Given the description of an element on the screen output the (x, y) to click on. 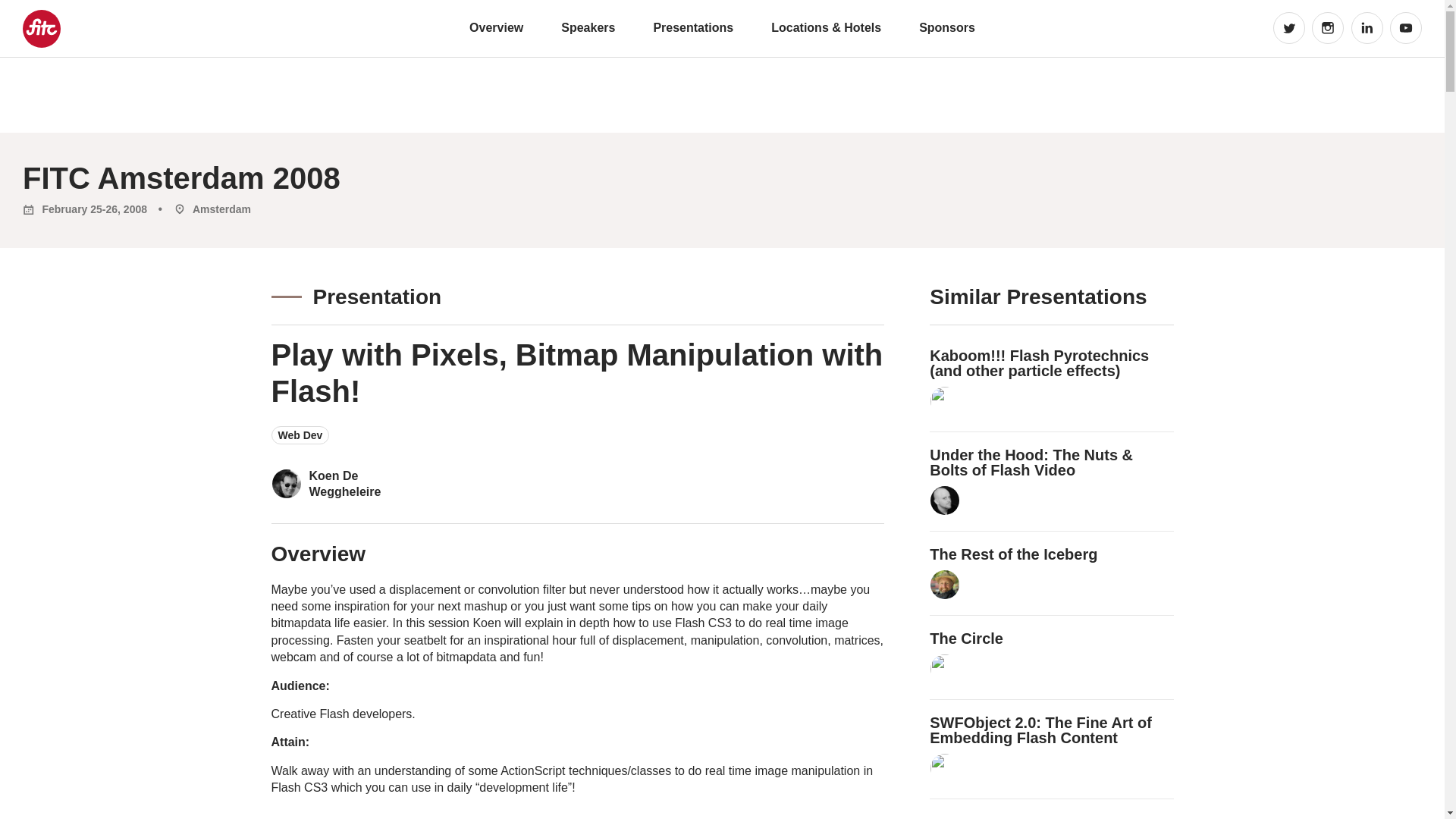
The Circle (966, 638)
February 25-26, 2008 (85, 208)
youtube (1406, 28)
Jared Tarbell (944, 668)
Presentations (692, 27)
The Rest of the Iceberg (1013, 554)
Koen De Weggheleire (371, 484)
Speakers (587, 27)
instagram (1327, 28)
Bobby van der Sluis (944, 767)
Sponsors (946, 27)
twitter (1288, 28)
linkedin (1367, 28)
Seb Lee-Delisle (944, 400)
Overview (495, 27)
